Given the description of an element on the screen output the (x, y) to click on. 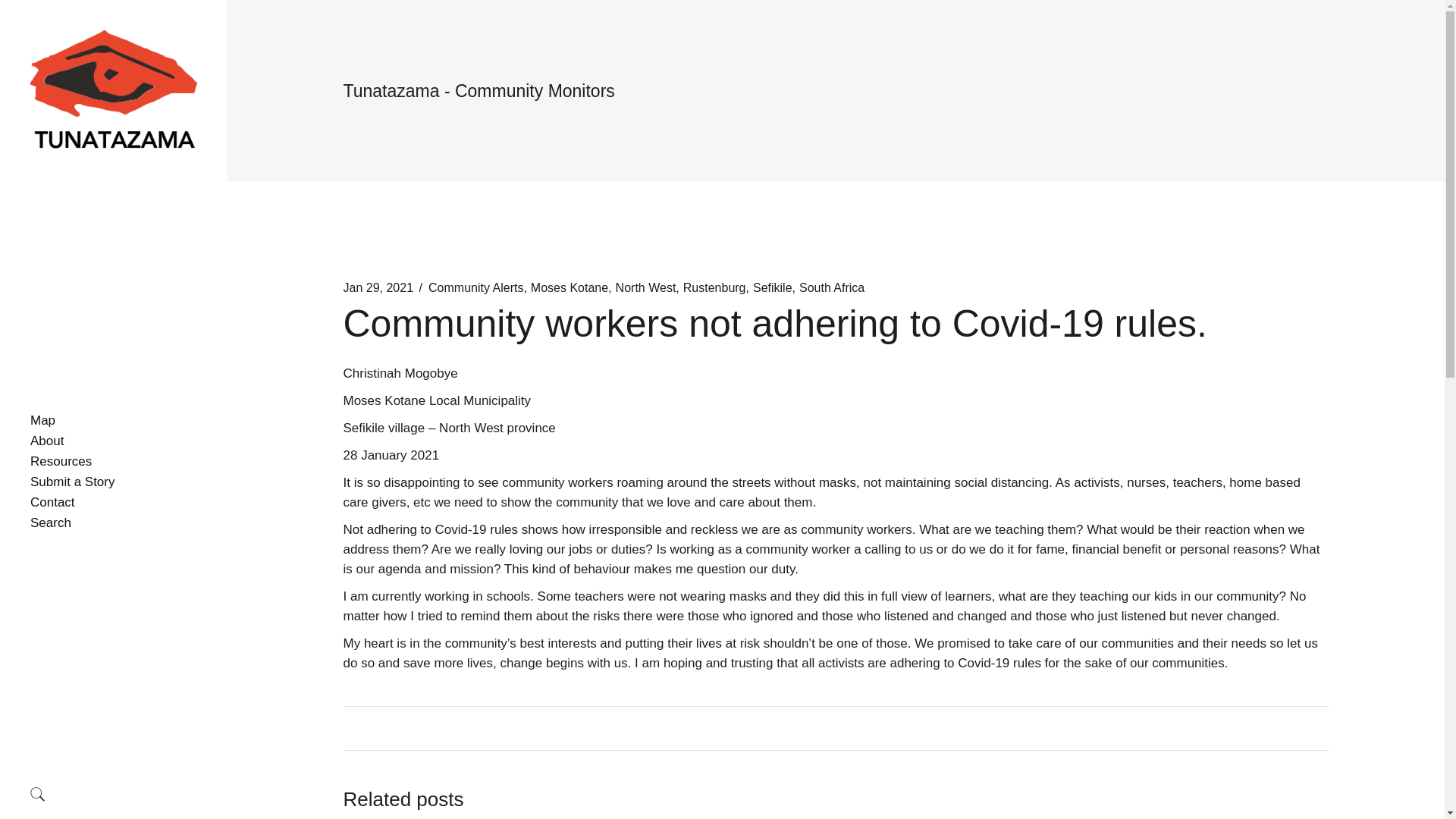
Rustenburg (713, 287)
Moses Kotane (569, 287)
Submit a Story (113, 482)
Resources (113, 462)
Contact (113, 503)
Jan 29, 2021 (377, 287)
South Africa (831, 287)
Map (113, 421)
About (113, 441)
North West (646, 287)
Search (113, 523)
Community Alerts (475, 287)
Sefikile (772, 287)
